Given the description of an element on the screen output the (x, y) to click on. 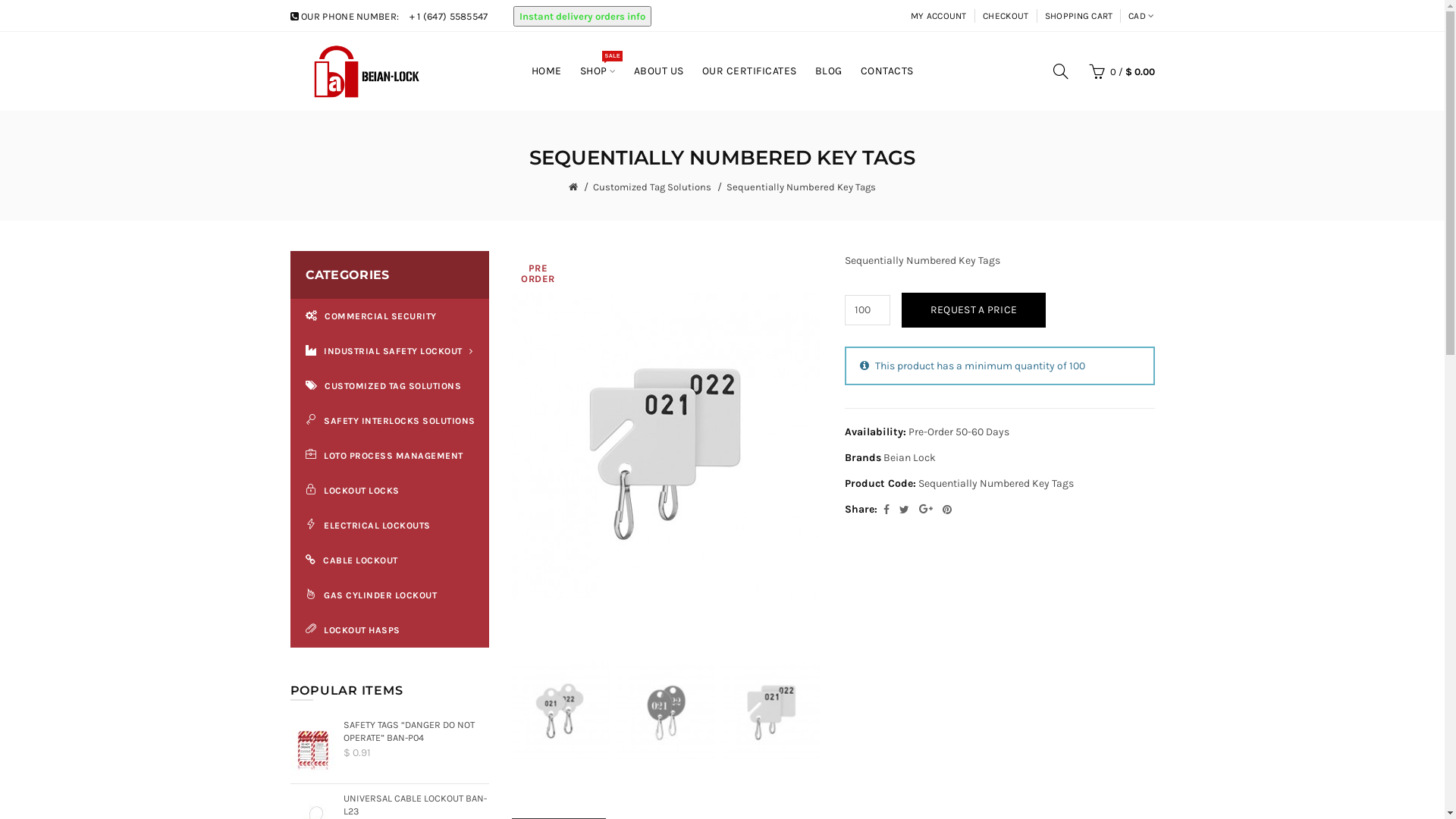
COMMERCIAL SECURITY Element type: text (389, 315)
LOTO PROCESS MANAGEMENT Element type: text (389, 455)
SAFETY INTERLOCKS SOLUTIONS Element type: text (389, 420)
Beian Lock Canada Element type: hover (363, 71)
Beian Lock Element type: text (909, 457)
SHOPPING CART Element type: text (1078, 15)
OUR CERTIFICATES Element type: text (749, 71)
Sequentially Numbered Key Tags Element type: hover (560, 710)
UNIVERSAL CABLE LOCKOUT BAN-L23 Element type: text (415, 804)
Sequentially Numbered Key Tags Element type: hover (666, 710)
CONTACTS Element type: text (886, 71)
HOME Element type: text (545, 71)
SHOP
SALE Element type: text (597, 71)
ELECTRICAL LOCKOUTS Element type: text (389, 525)
LOCKOUT HASPS Element type: text (389, 629)
+ 1 (647) 5585547 Element type: text (448, 15)
Customized Tag Solutions Element type: text (652, 186)
Sequentially Numbered Key Tags Element type: hover (665, 446)
CABLE LOCKOUT Element type: text (389, 559)
Instant delivery orders info Element type: text (582, 16)
CHECKOUT Element type: text (1005, 15)
MY ACCOUNT Element type: text (938, 15)
GAS CYLINDER LOCKOUT Element type: text (389, 594)
0 / $ 0.00 Element type: text (1117, 71)
BLOG Element type: text (827, 71)
LOCKOUT LOCKS Element type: text (389, 490)
Sequentially Numbered Key Tags Element type: text (800, 186)
ABOUT US Element type: text (658, 71)
CUSTOMIZED TAG SOLUTIONS Element type: text (389, 385)
CAD Element type: text (1138, 15)
INDUSTRIAL SAFETY LOCKOUT Element type: text (389, 350)
Sequentially Numbered Key Tags Element type: hover (771, 710)
REQUEST A PRICE Element type: text (973, 309)
